Given the description of an element on the screen output the (x, y) to click on. 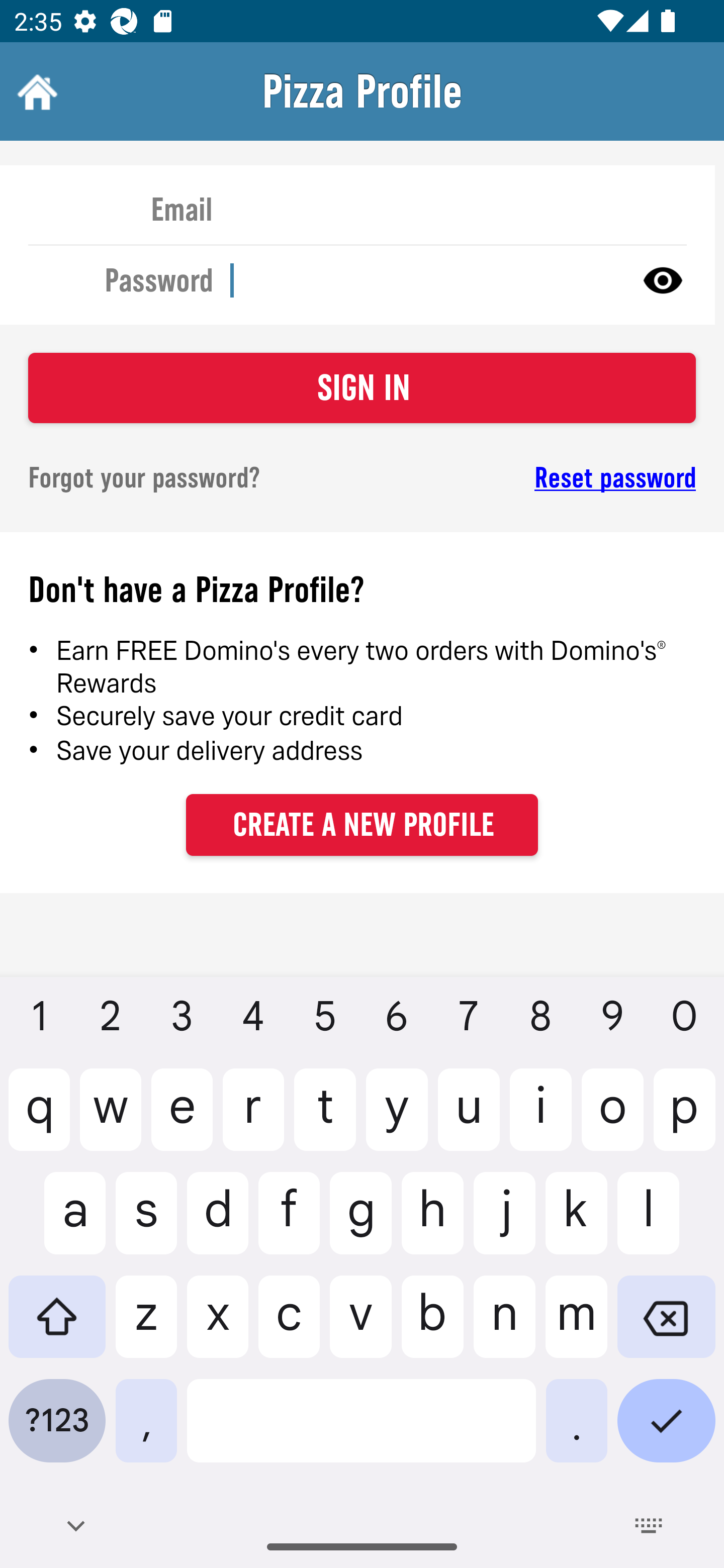
Home (35, 91)
Show Password (663, 279)
SIGN IN (361, 387)
Reset password (545, 477)
CREATE A NEW PROFILE (361, 824)
